Given the description of an element on the screen output the (x, y) to click on. 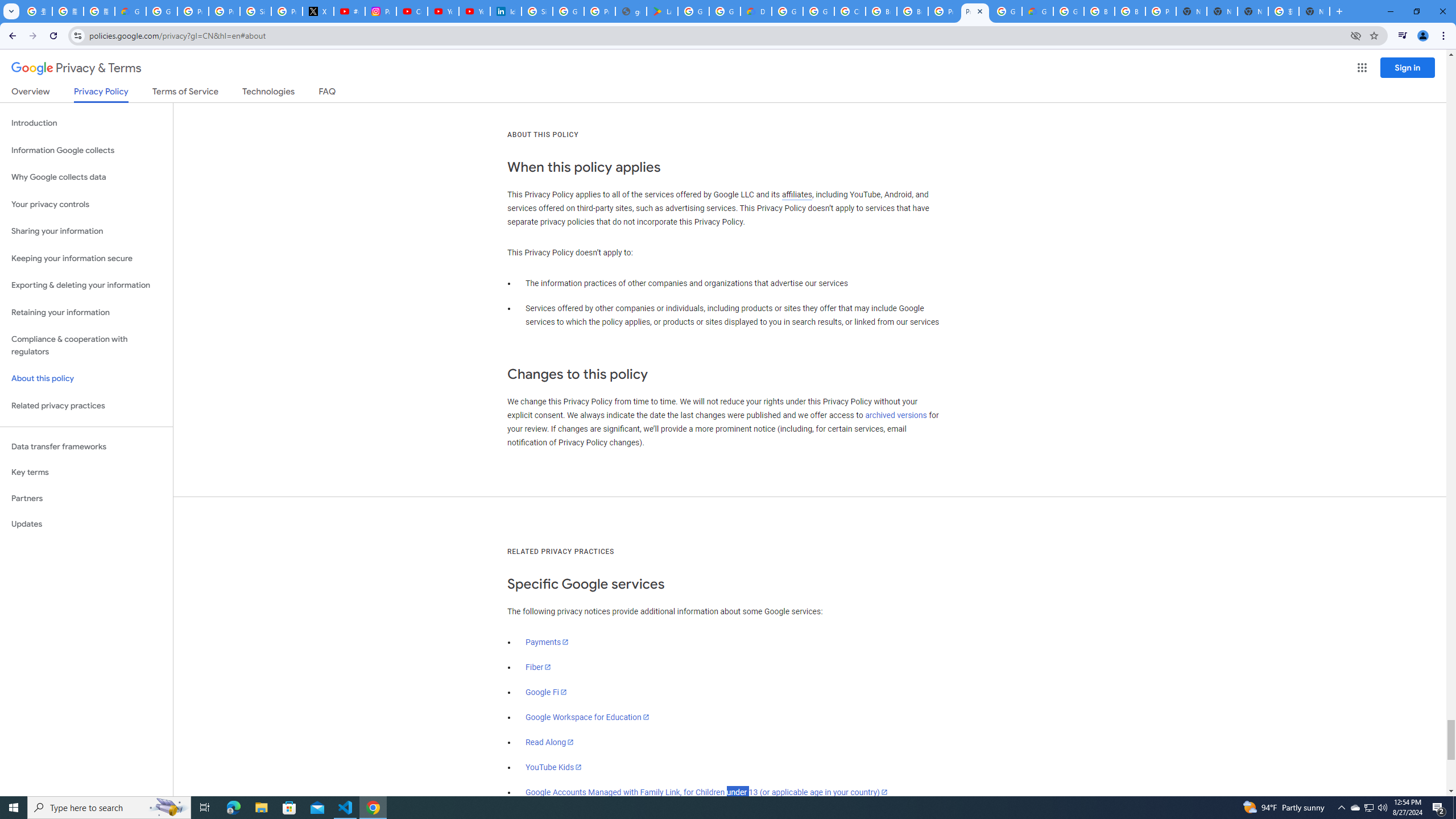
New Tab (1314, 11)
Google Cloud Privacy Notice (130, 11)
Control your music, videos, and more (1402, 35)
YouTube Kids (553, 767)
Sign in - Google Accounts (255, 11)
Retaining your information (86, 312)
Updates (86, 524)
X (318, 11)
